Given the description of an element on the screen output the (x, y) to click on. 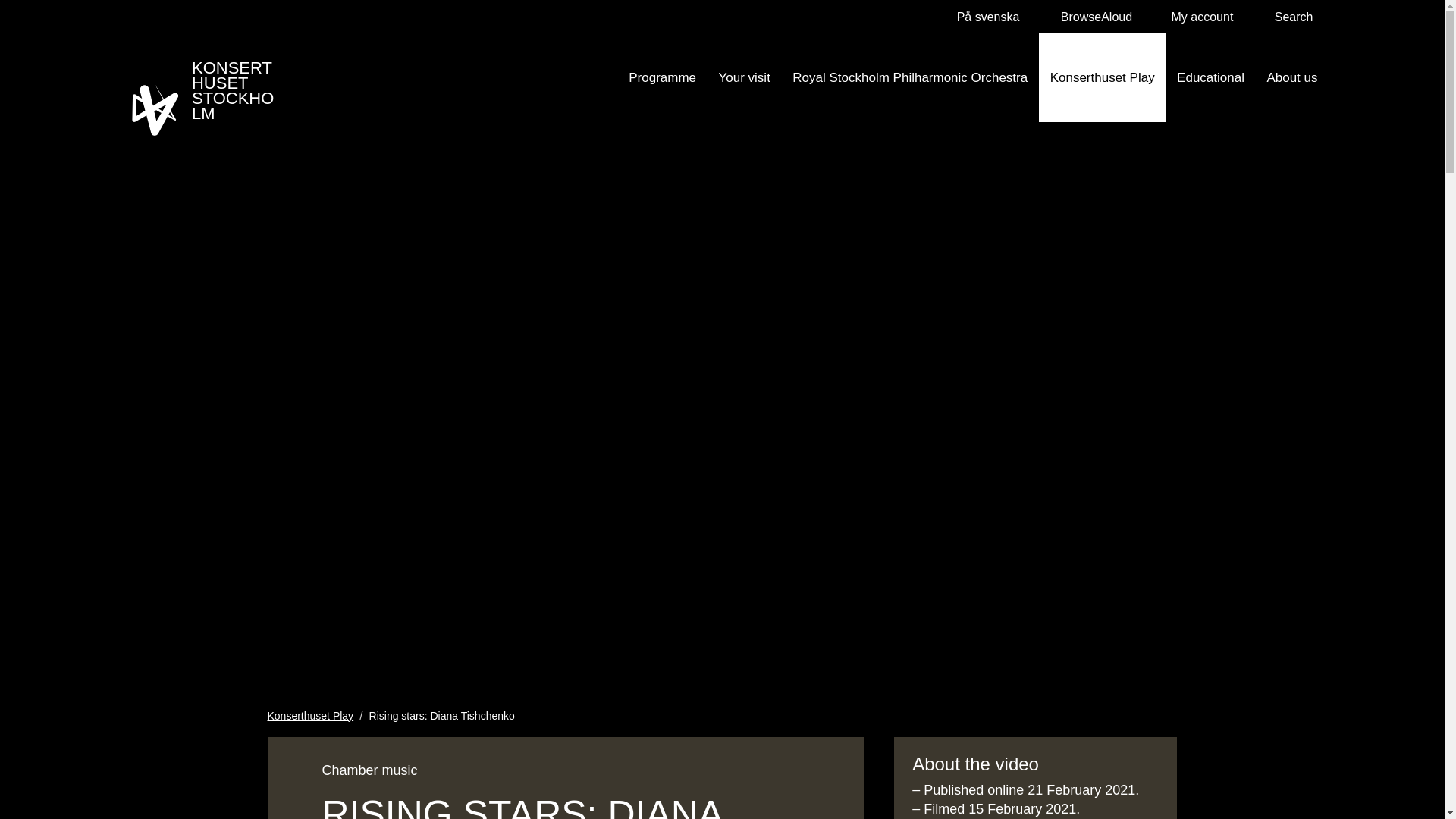
Konserthuset Play (309, 715)
Programme (662, 77)
Go to content (15, 11)
Konserthuset Play (1102, 77)
Educational (1210, 77)
Royal Stockholm Philharmonic Orchestra (909, 77)
BrowseAloud (1087, 16)
My account (1195, 16)
KONSERTHUSET STOCKHOLM (206, 93)
Search (1288, 16)
